Given the description of an element on the screen output the (x, y) to click on. 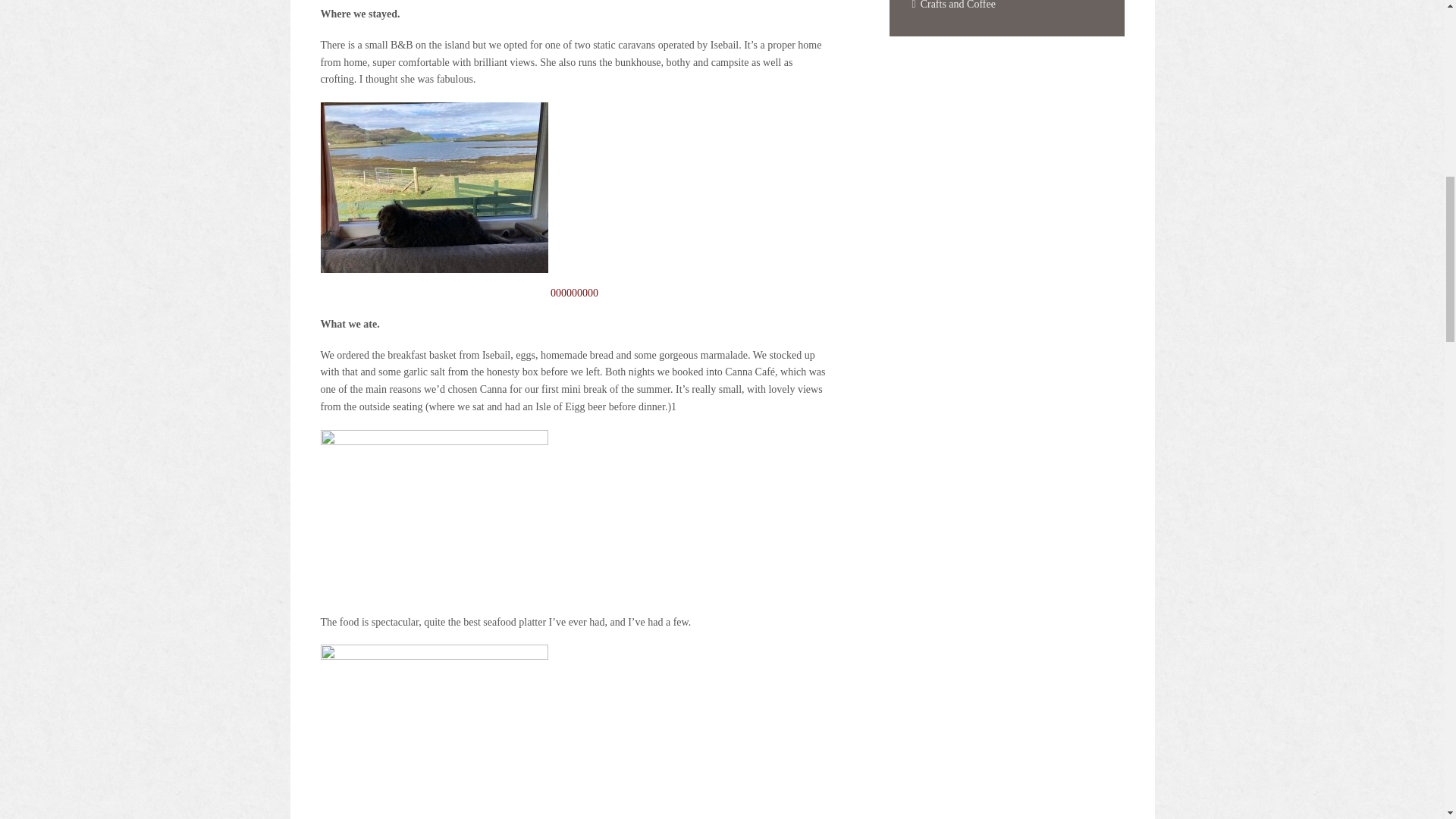
000000000 (574, 200)
